Given the description of an element on the screen output the (x, y) to click on. 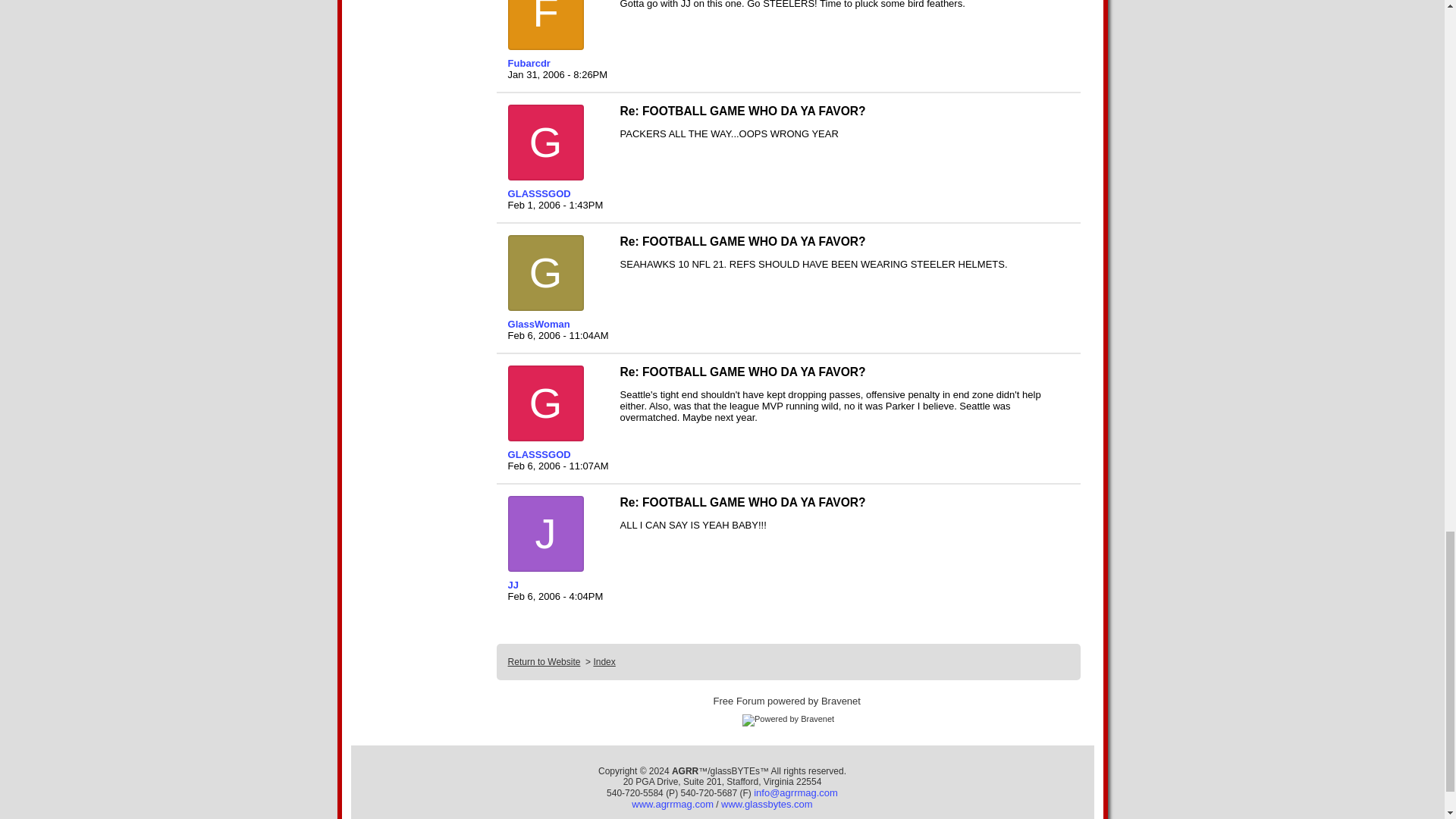
Fubarcdr (557, 62)
Messages from this User (529, 62)
Messages from this User (513, 584)
Messages from this User (539, 324)
Messages from this User (539, 193)
Messages from this User (539, 454)
